Given the description of an element on the screen output the (x, y) to click on. 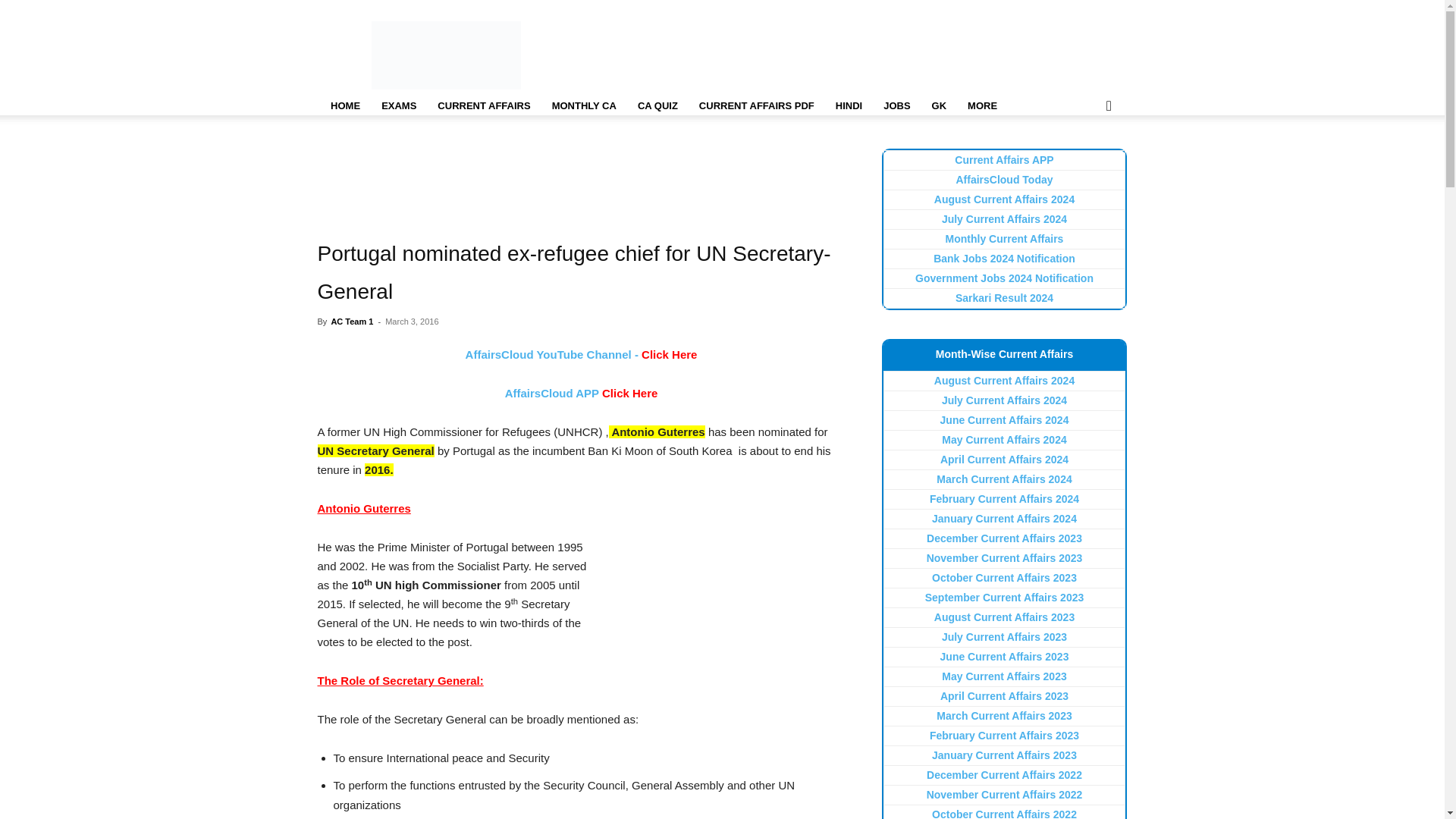
Current Affairs PDF (756, 105)
Current Affairs Hindi (848, 105)
Home (344, 105)
Current Affairs (483, 105)
Current Affairs Quiz (657, 105)
AffairsCloud (446, 55)
